Given the description of an element on the screen output the (x, y) to click on. 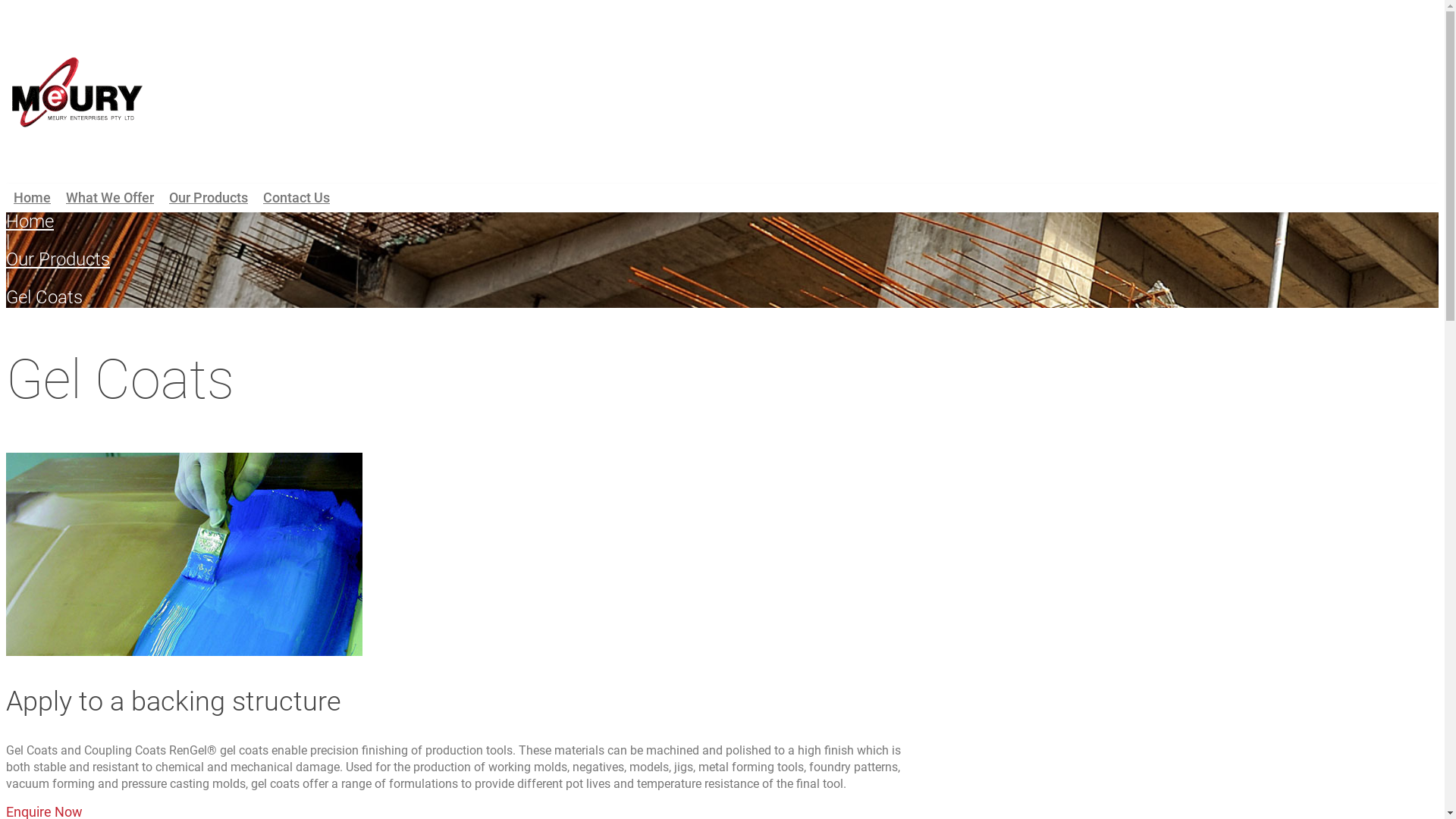
Our Products Element type: text (208, 197)
Contact Us Element type: text (296, 197)
What We Offer Element type: text (109, 197)
Home Element type: text (32, 197)
Our Products Element type: text (57, 258)
Home Element type: text (29, 221)
